Given the description of an element on the screen output the (x, y) to click on. 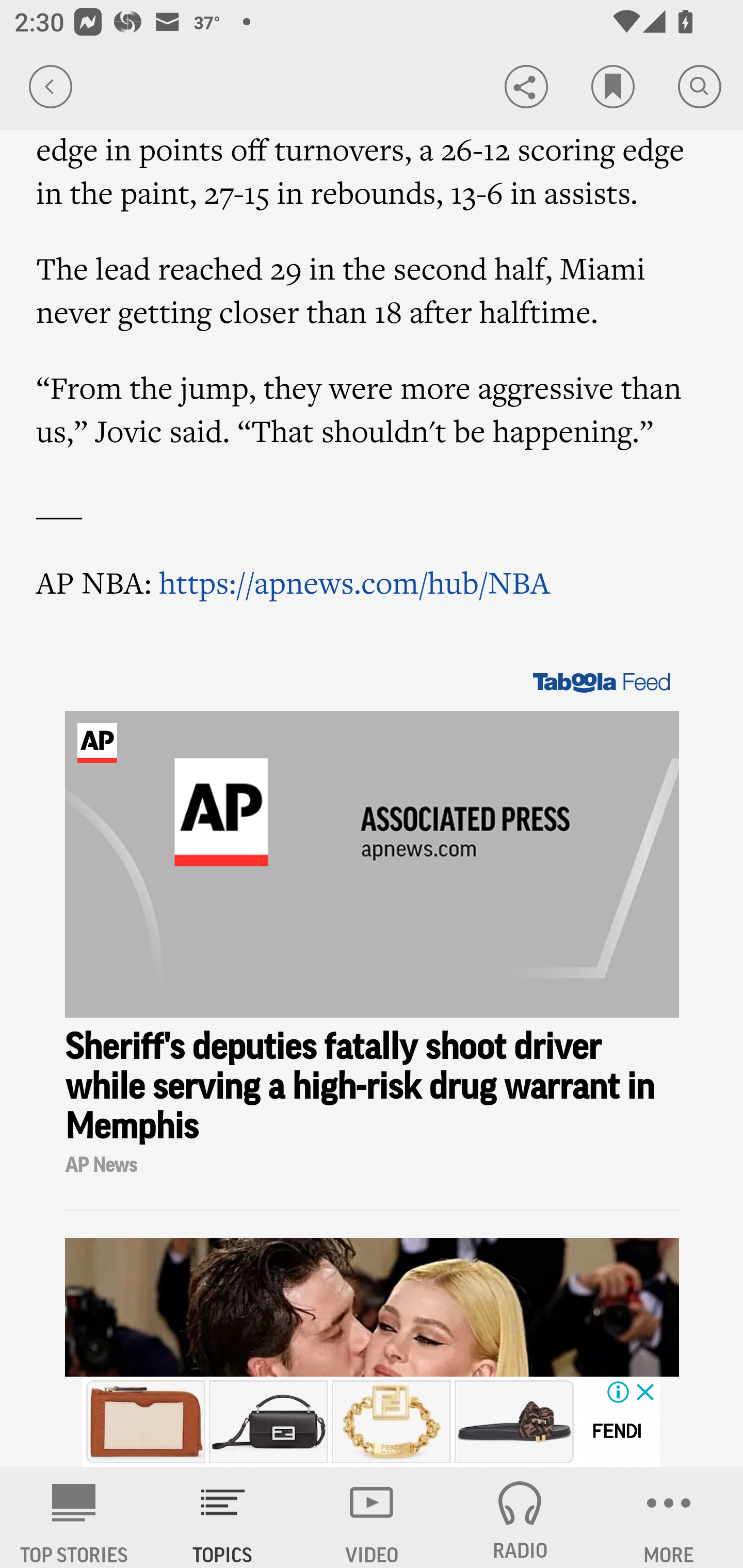
https://apnews.com/hub/NBA (354, 582)
Image for Taboola Advertising Unit (372, 864)
fendi-feel-brown-satin-slides-8x8142ae7sf0r7v (513, 1420)
AP News TOP STORIES (74, 1517)
TOPICS (222, 1517)
VIDEO (371, 1517)
RADIO (519, 1517)
MORE (668, 1517)
